Given the description of an element on the screen output the (x, y) to click on. 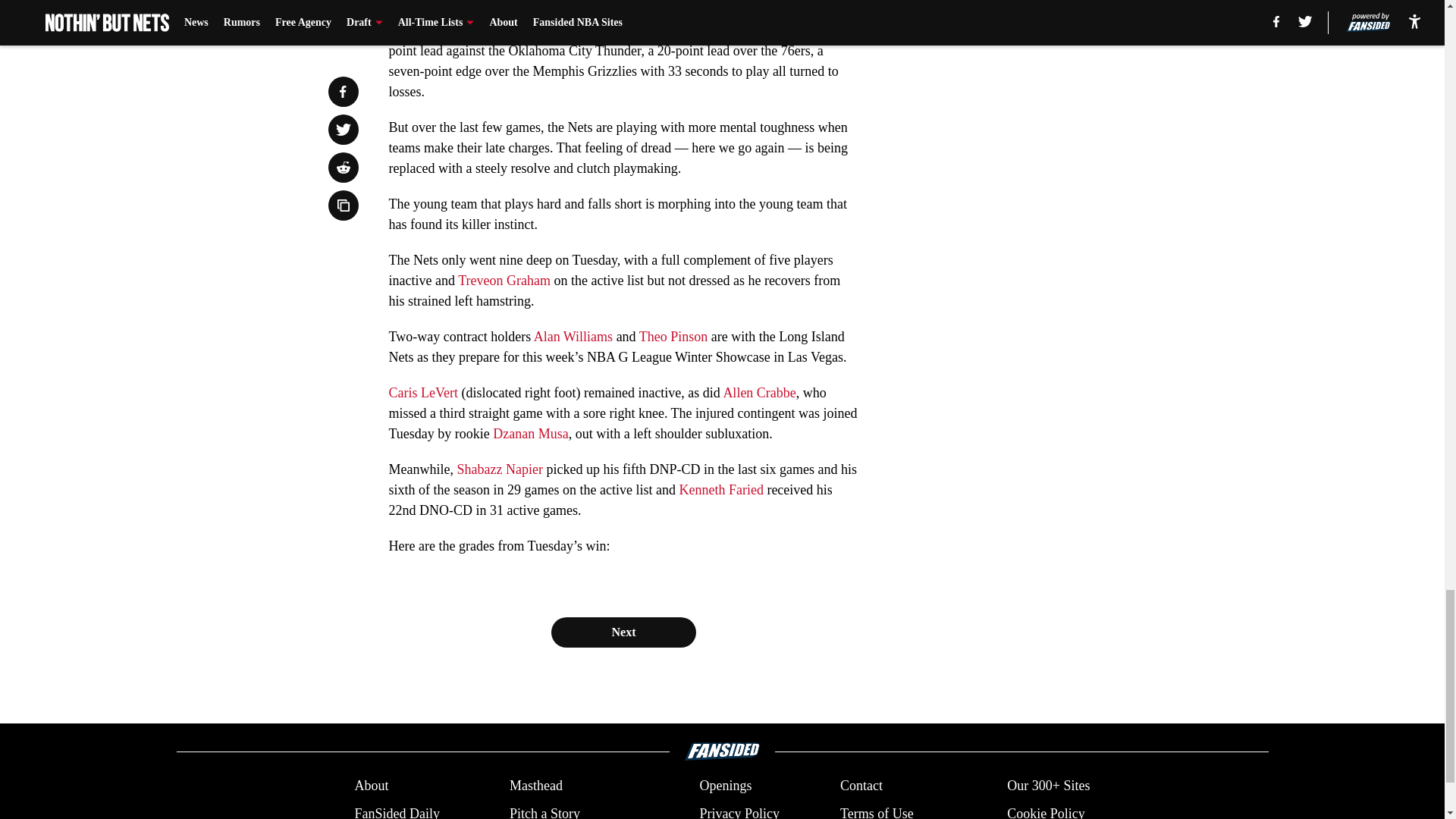
Dzanan Musa (530, 433)
Theo Pinson (673, 336)
Caris LeVert (422, 392)
Kenneth Faried (720, 489)
Shabazz Napier (499, 468)
Alan Williams (573, 336)
Treveon Graham (504, 280)
Allen Crabbe (758, 392)
